Given the description of an element on the screen output the (x, y) to click on. 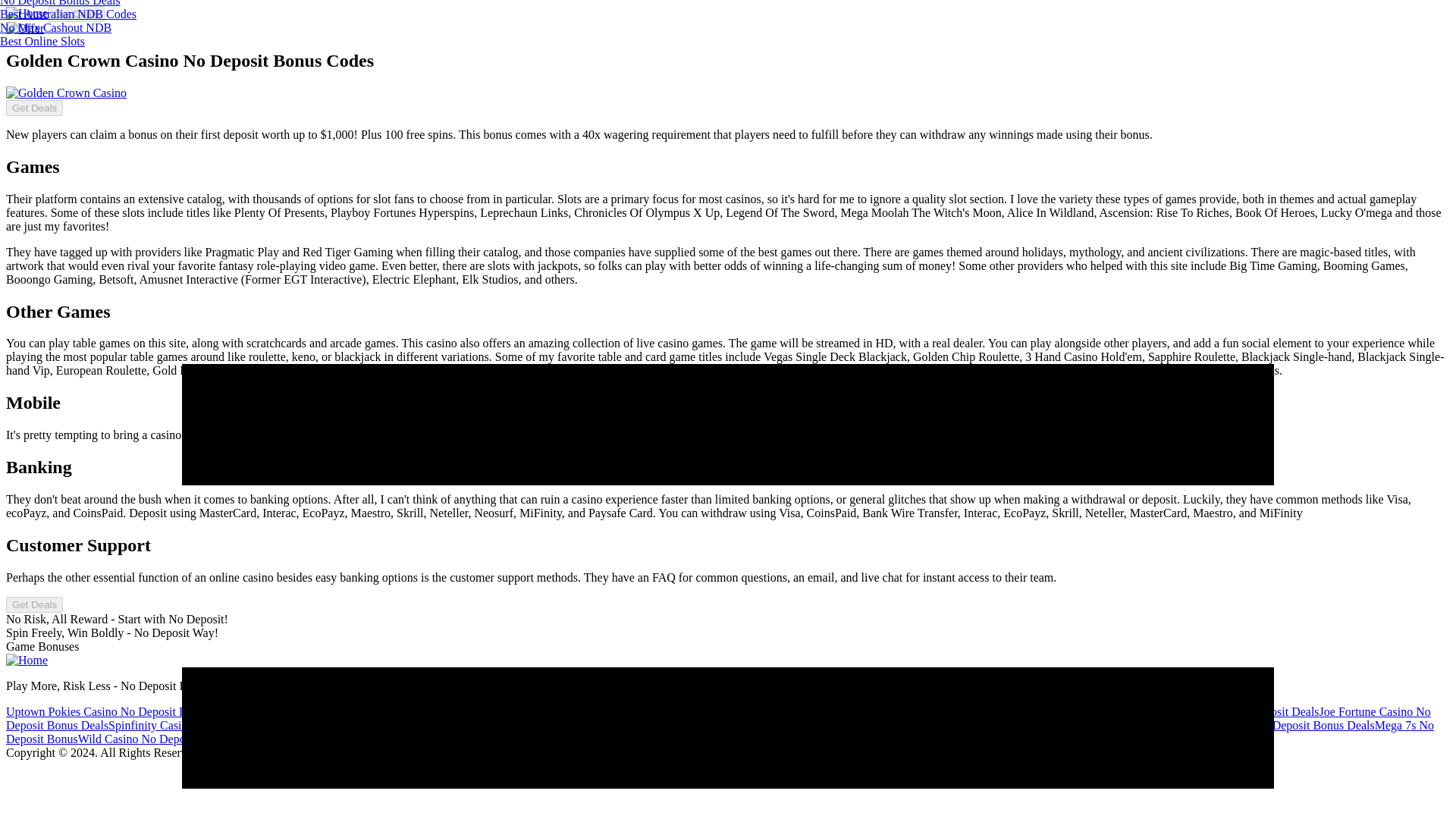
Spinfinity Casino No Deposit Bonus Deals (212, 725)
Pokies Lounge Casino No Deposit Bonus Deals (1049, 725)
Uptown Aces Casino No Deposit Bonus Deals (374, 738)
High Country Casino No Deposit Deals (1222, 711)
Silver Edge Casino No Deposit Bonus Deals (425, 725)
Uptown Pokies Casino No Deposit Bonus Deals (122, 711)
Mega 7s No Deposit Bonus (719, 732)
Hallmark Casino No Deposit Bonus Deals (636, 725)
Get Deals (76, 13)
